Given the description of an element on the screen output the (x, y) to click on. 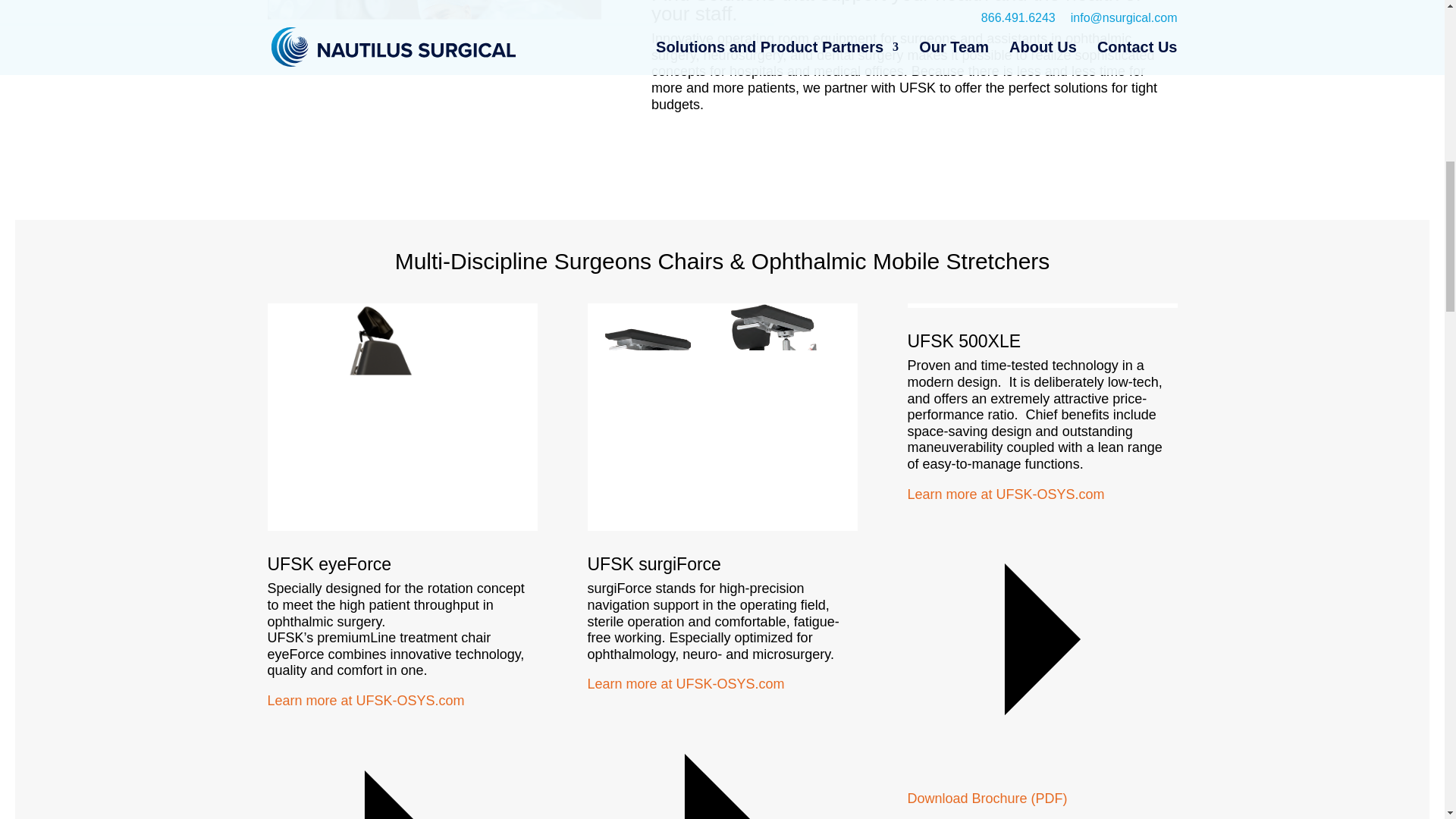
Learn more at UFSK-OSYS.com (1041, 631)
Learn more at UFSK-OSYS.com (721, 747)
Learn more at UFSK-OSYS.com (401, 755)
